Given the description of an element on the screen output the (x, y) to click on. 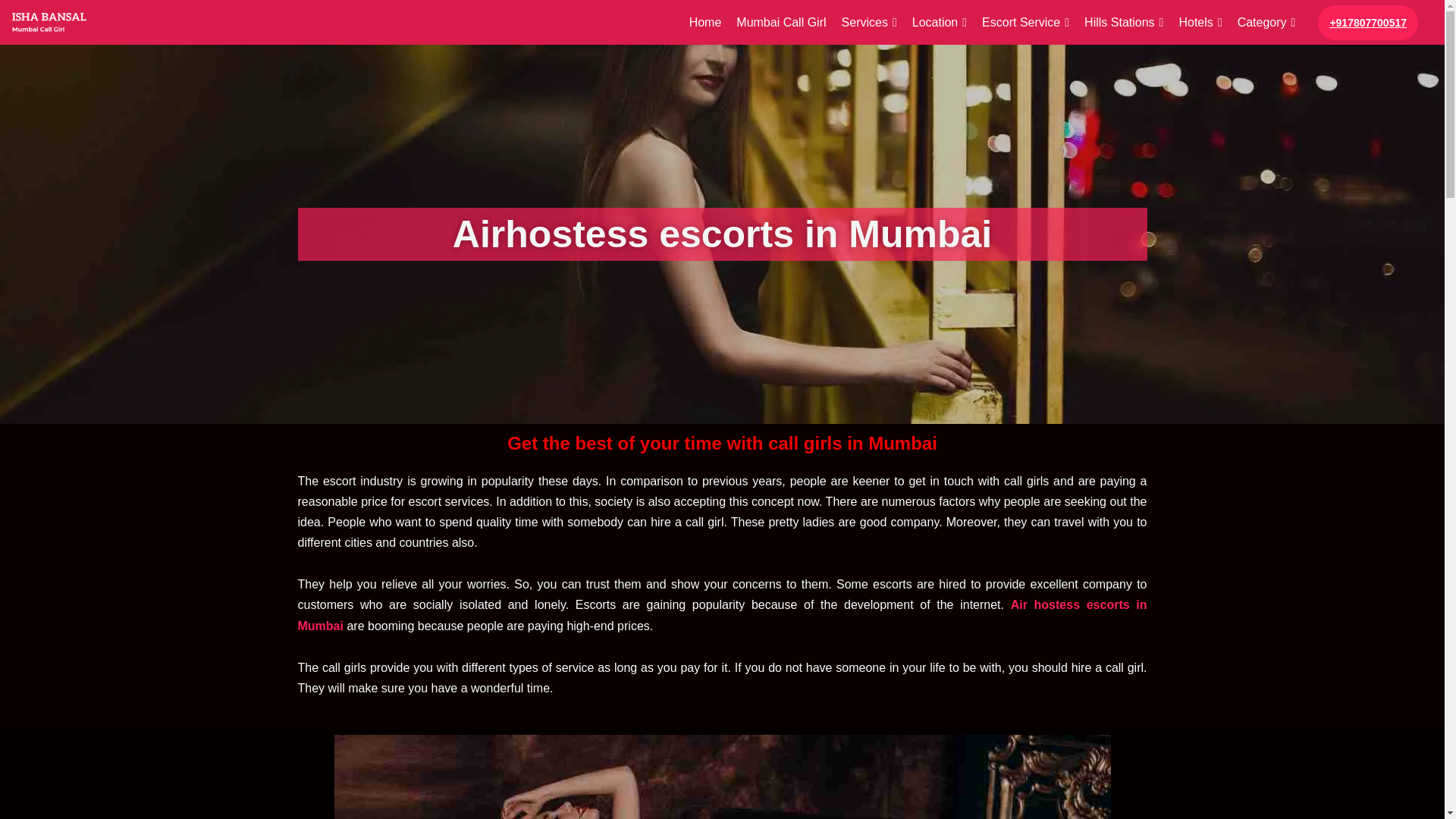
Services (869, 22)
Location (939, 22)
Home (705, 22)
Mumbai Call Girl (780, 22)
